Given the description of an element on the screen output the (x, y) to click on. 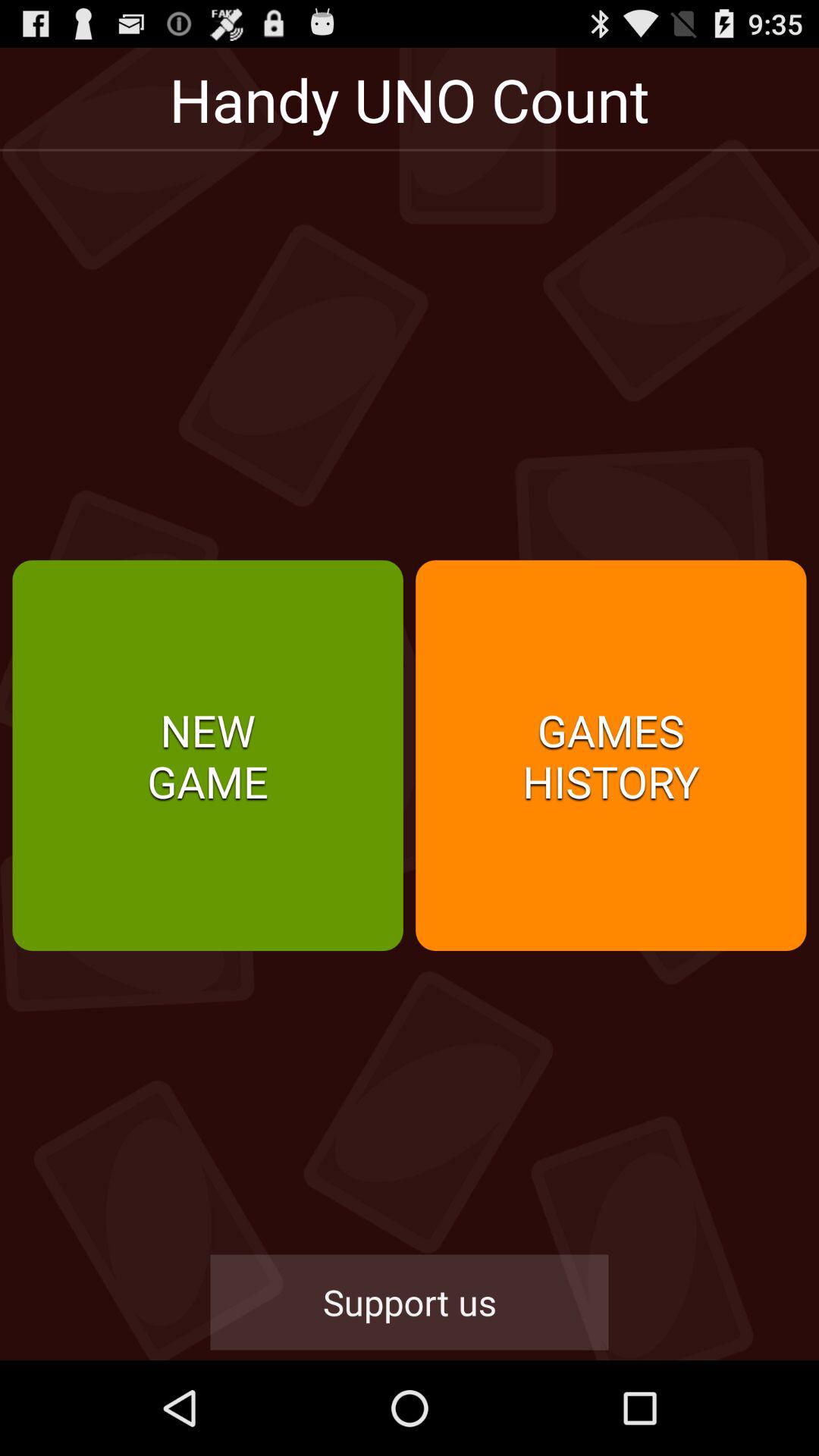
flip until support us (409, 1302)
